Given the description of an element on the screen output the (x, y) to click on. 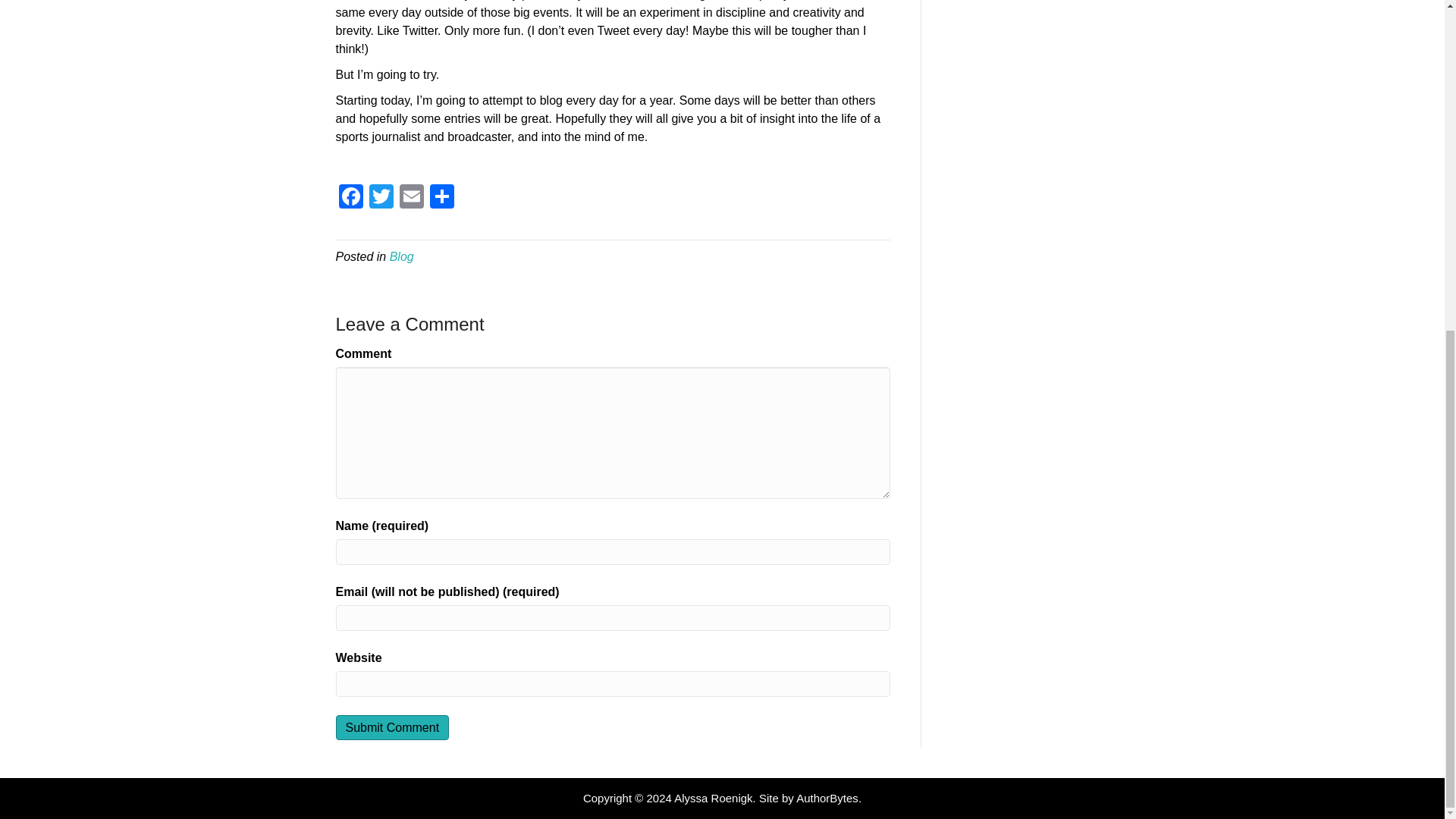
Twitter (380, 198)
Email (411, 198)
Facebook (349, 198)
Email (411, 198)
Twitter (380, 198)
Facebook (349, 198)
Blog (401, 256)
Submit Comment (391, 727)
AuthorBytes (827, 797)
Submit Comment (391, 727)
